Given the description of an element on the screen output the (x, y) to click on. 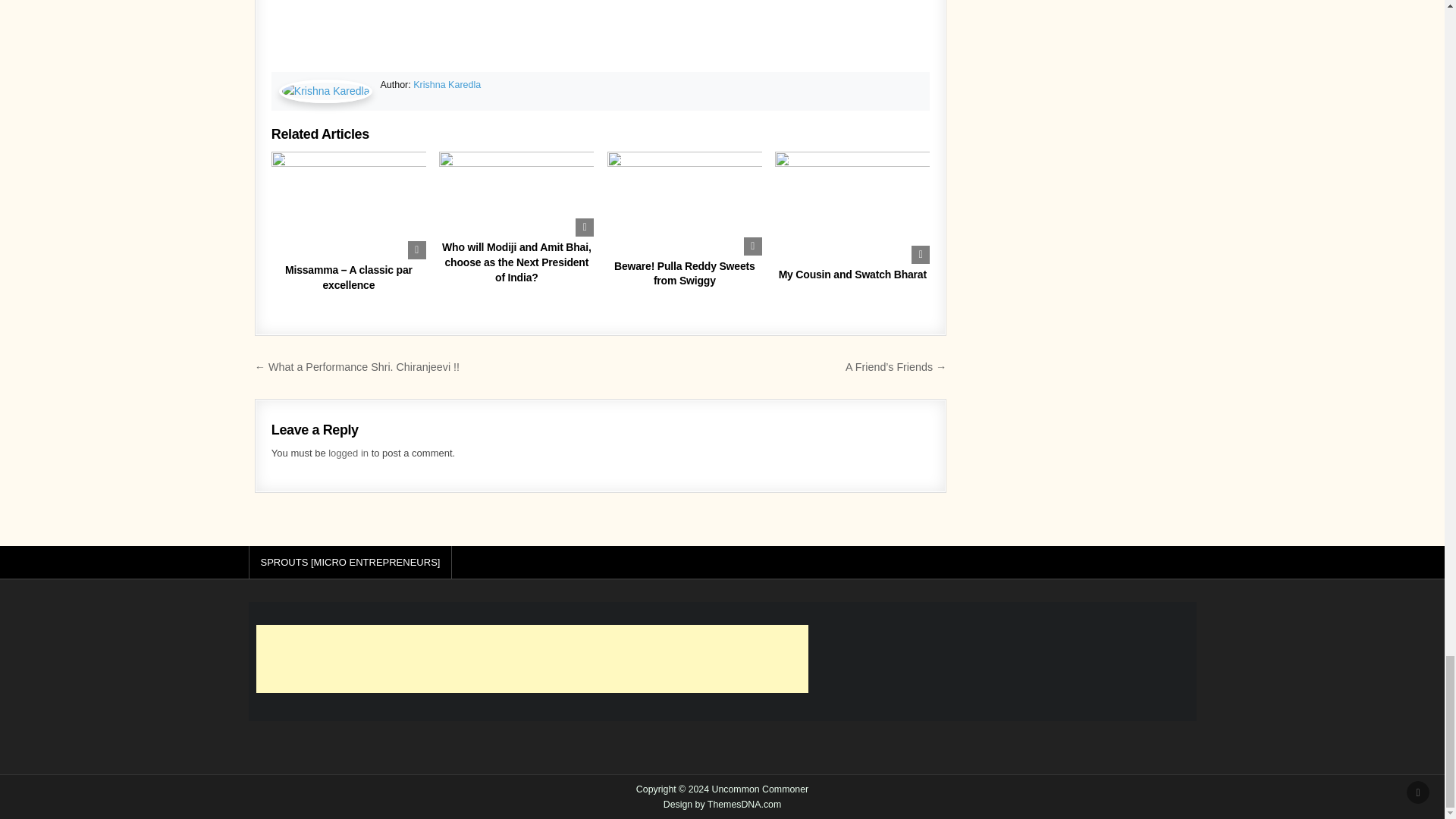
0 (283, 160)
0 (450, 160)
0 (618, 160)
Krishna Karedla (446, 84)
